Given the description of an element on the screen output the (x, y) to click on. 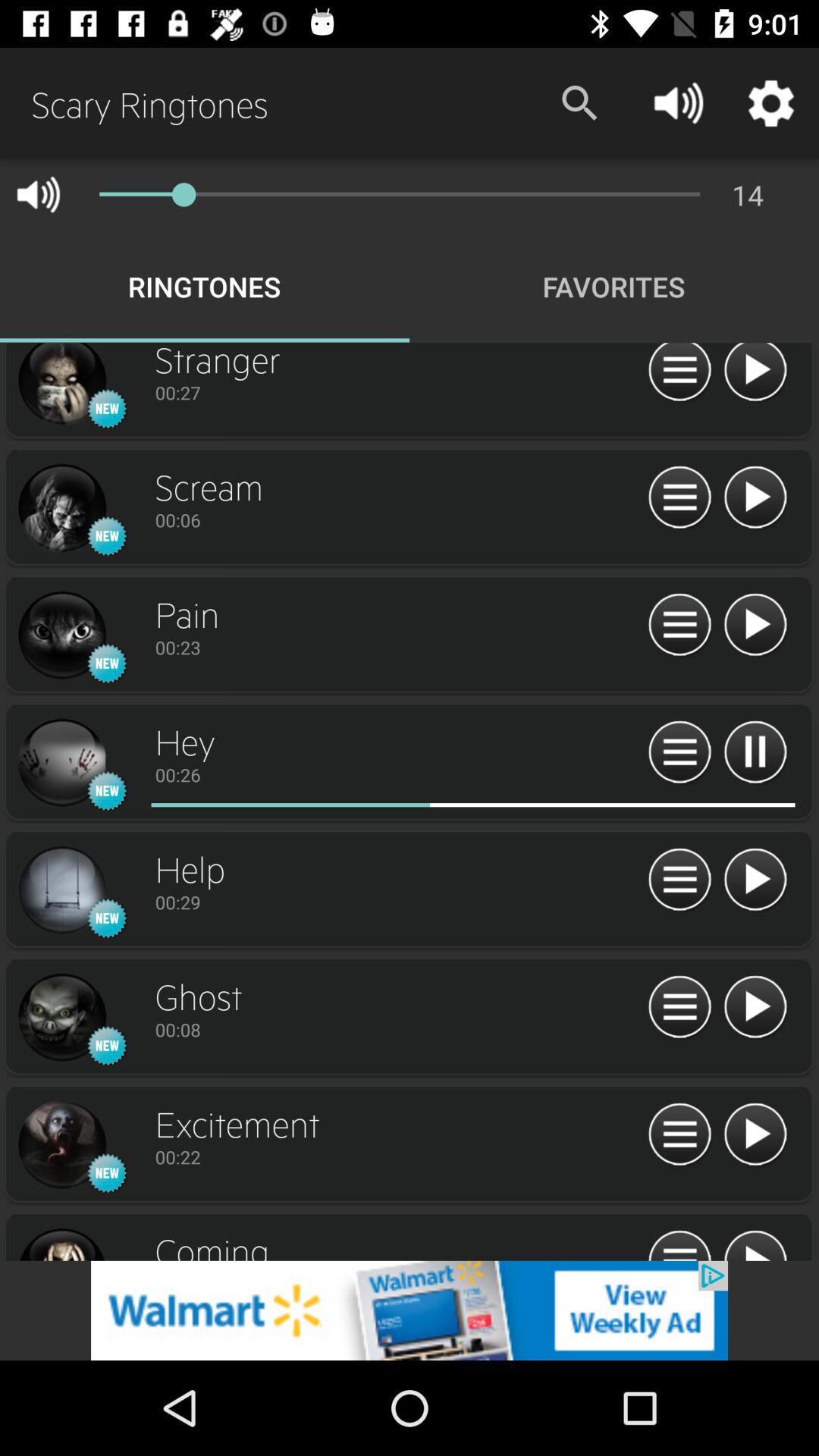
to delete the add (409, 1310)
